Given the description of an element on the screen output the (x, y) to click on. 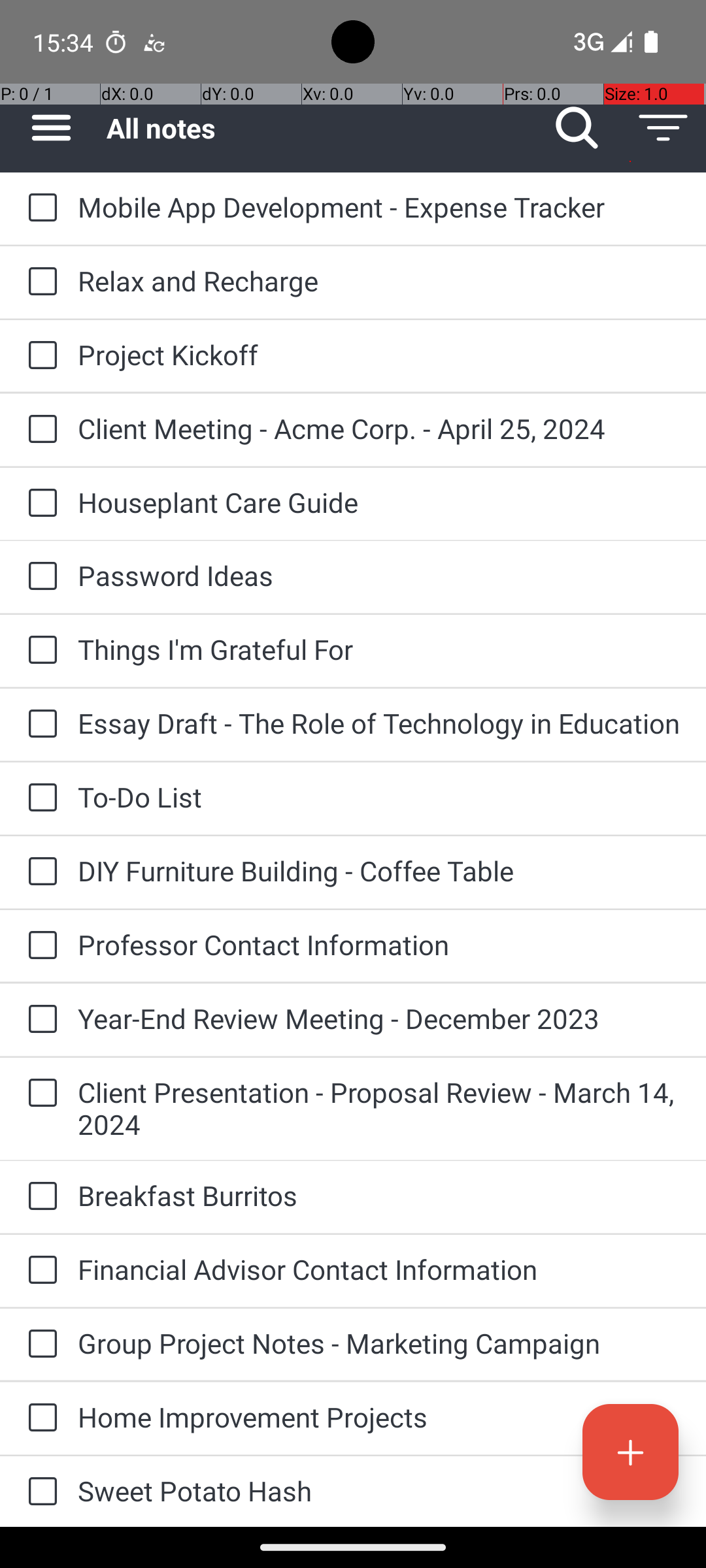
to-do: Relax and Recharge Element type: android.widget.CheckBox (38, 282)
Relax and Recharge Element type: android.widget.TextView (378, 280)
to-do: Houseplant Care Guide Element type: android.widget.CheckBox (38, 503)
Houseplant Care Guide Element type: android.widget.TextView (378, 501)
to-do: Password Ideas Element type: android.widget.CheckBox (38, 576)
Password Ideas Element type: android.widget.TextView (378, 574)
to-do: Things I'm Grateful For Element type: android.widget.CheckBox (38, 650)
Things I'm Grateful For Element type: android.widget.TextView (378, 648)
to-do: To-Do List Element type: android.widget.CheckBox (38, 798)
To-Do List Element type: android.widget.TextView (378, 796)
to-do: DIY Furniture Building - Coffee Table Element type: android.widget.CheckBox (38, 872)
DIY Furniture Building - Coffee Table Element type: android.widget.TextView (378, 870)
to-do: Professor Contact Information Element type: android.widget.CheckBox (38, 945)
Professor Contact Information Element type: android.widget.TextView (378, 944)
to-do: Year-End Review Meeting - December 2023 Element type: android.widget.CheckBox (38, 1019)
Year-End Review Meeting - December 2023 Element type: android.widget.TextView (378, 1017)
to-do: Client Presentation - Proposal Review - March 14, 2024 Element type: android.widget.CheckBox (38, 1093)
Client Presentation - Proposal Review - March 14, 2024 Element type: android.widget.TextView (378, 1107)
to-do: Breakfast Burritos Element type: android.widget.CheckBox (38, 1196)
Breakfast Burritos Element type: android.widget.TextView (378, 1194)
to-do: Home Improvement Projects Element type: android.widget.CheckBox (38, 1418)
Home Improvement Projects Element type: android.widget.TextView (378, 1416)
to-do: Sweet Potato Hash Element type: android.widget.CheckBox (38, 1491)
Sweet Potato Hash Element type: android.widget.TextView (378, 1490)
